Given the description of an element on the screen output the (x, y) to click on. 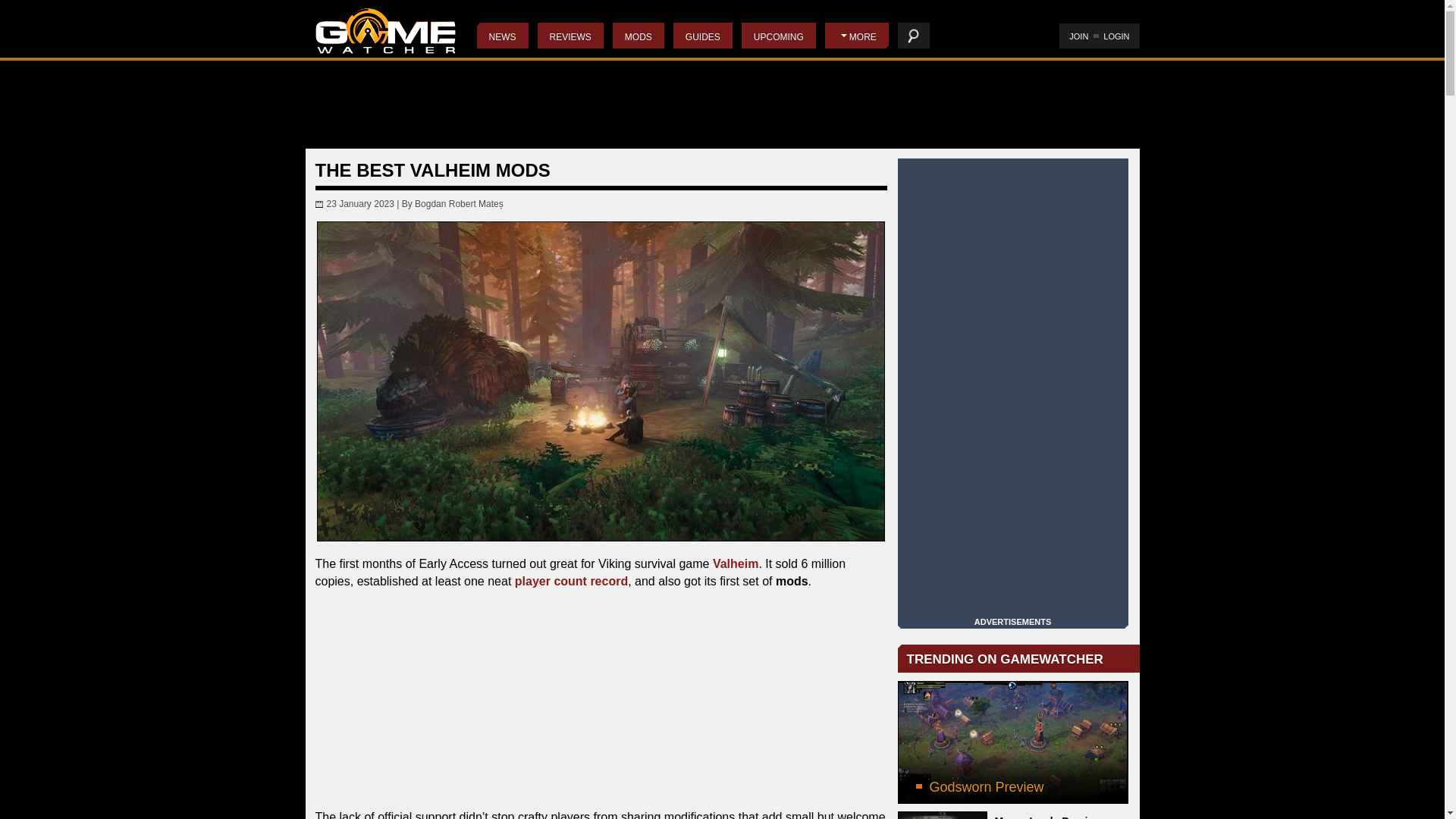
UPCOMING (778, 35)
REVIEWS (569, 35)
player count record (571, 581)
MORE (856, 35)
MODS (637, 35)
JOIN (1078, 36)
Valheim (735, 563)
NEWS (501, 35)
LOGIN (1116, 36)
GUIDES (702, 35)
